Given the description of an element on the screen output the (x, y) to click on. 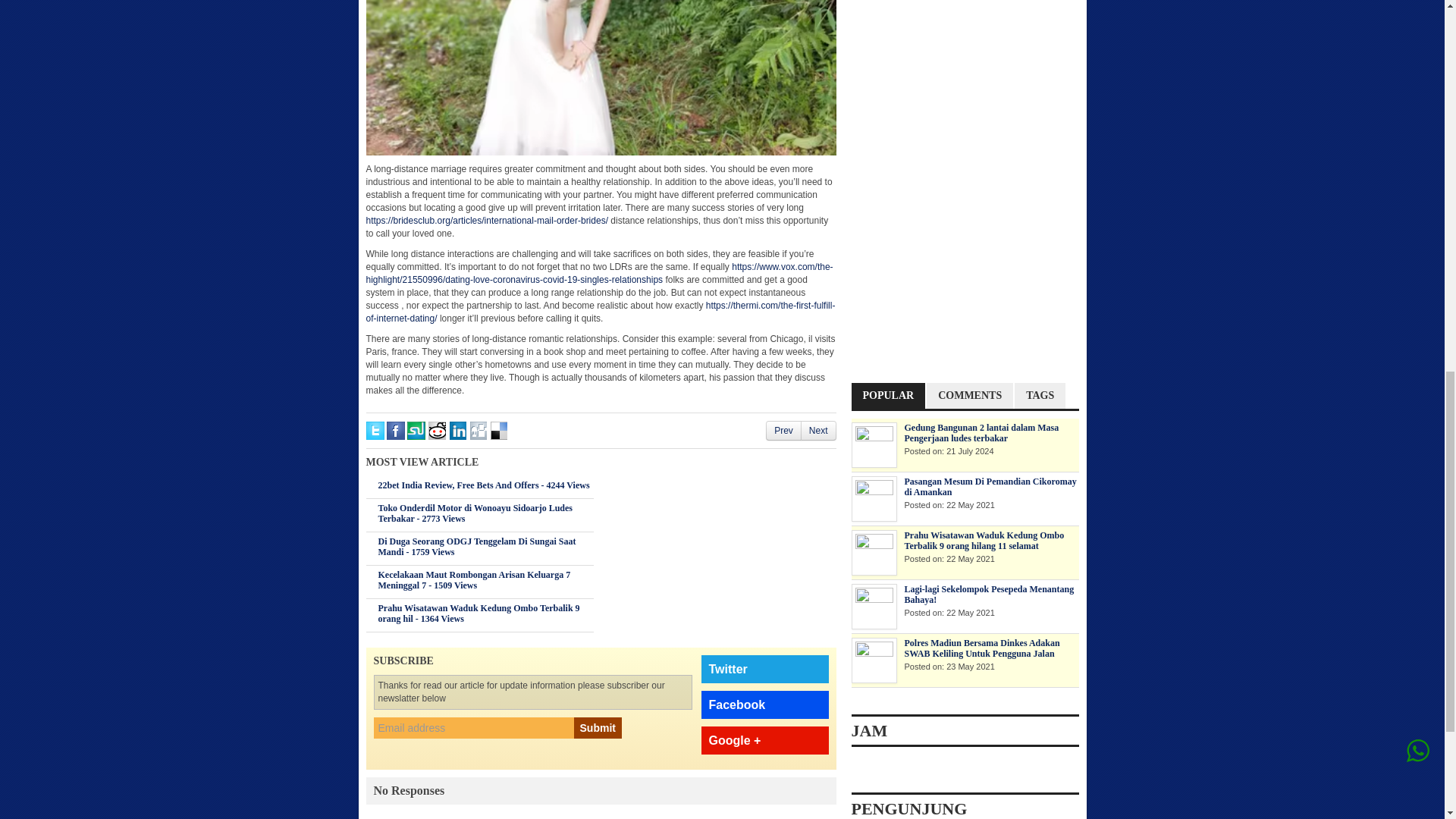
GPlus (764, 740)
Next (818, 430)
Prev (783, 430)
Facebook (764, 705)
Permalink to 22bet India Review, Free Bets And Offers (483, 484)
Twitter (764, 669)
